Given the description of an element on the screen output the (x, y) to click on. 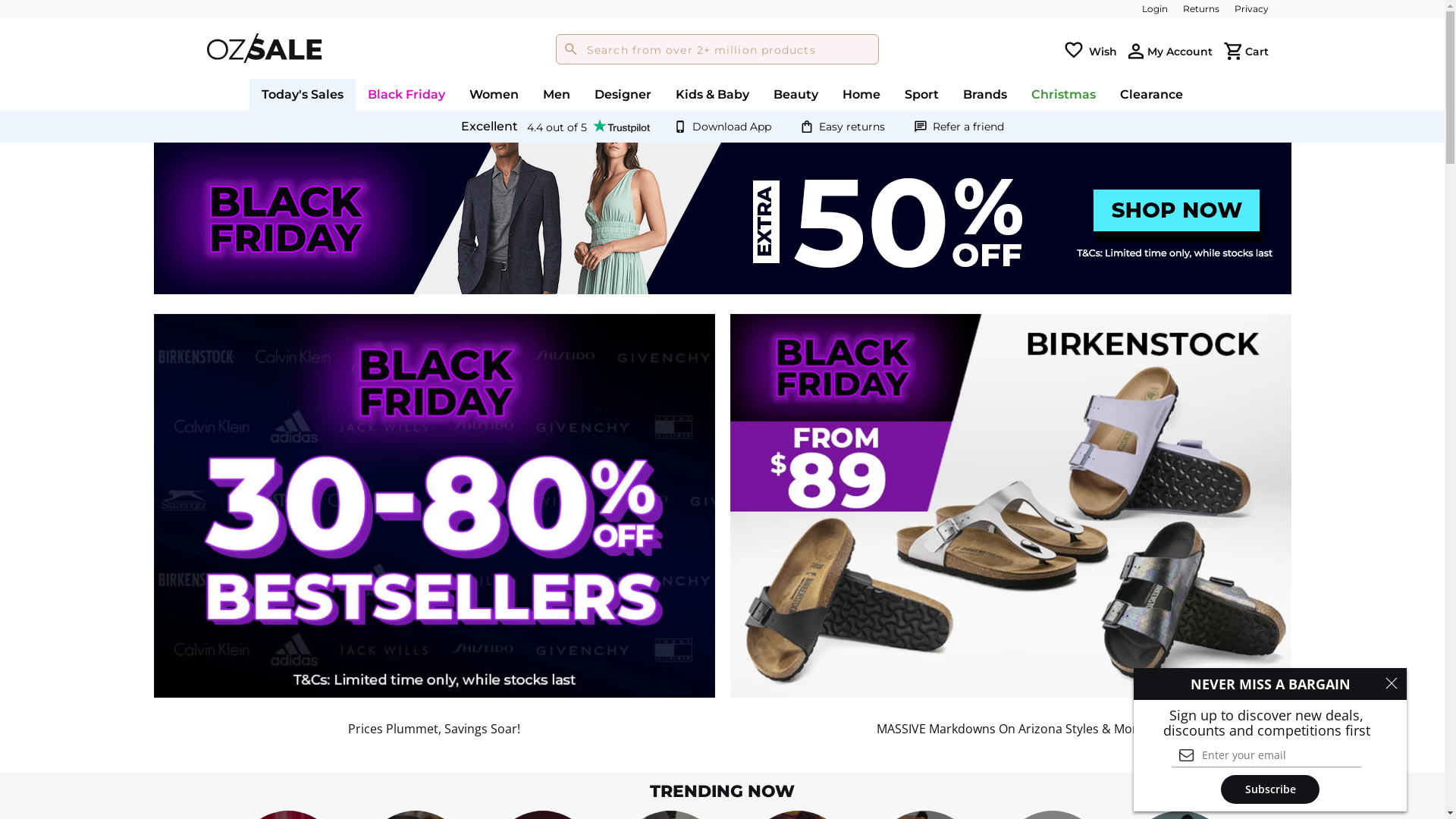
Refer a friend Element type: text (968, 126)
Customer reviews powered by Trustpilot Element type: hover (554, 126)
Today's Sales Element type: text (302, 93)
Designer Element type: text (622, 93)
Black Friday Element type: text (406, 93)
Home Element type: text (861, 93)
Sport Element type: text (921, 93)
Men Element type: text (556, 93)
Wish Element type: text (1102, 50)
Easy returns Element type: text (851, 126)
Subscribe Element type: text (1269, 789)
Returns Element type: text (1201, 9)
Women Element type: text (493, 93)
Clearance Element type: text (1151, 93)
Login Element type: text (1154, 9)
Prices Plummet, Savings Soar! Element type: text (434, 505)
Brands Element type: text (984, 93)
Christmas Element type: text (1063, 93)
My Account Element type: text (1178, 50)
Download App Element type: text (730, 126)
  Element type: text (1135, 50)
Cart Element type: text (1256, 50)
Beauty Element type: text (795, 93)
Kids & Baby Element type: text (712, 93)
Privacy Element type: text (1251, 9)
MASSIVE Markdowns On Arizona Styles & More Element type: text (1010, 505)
